Given the description of an element on the screen output the (x, y) to click on. 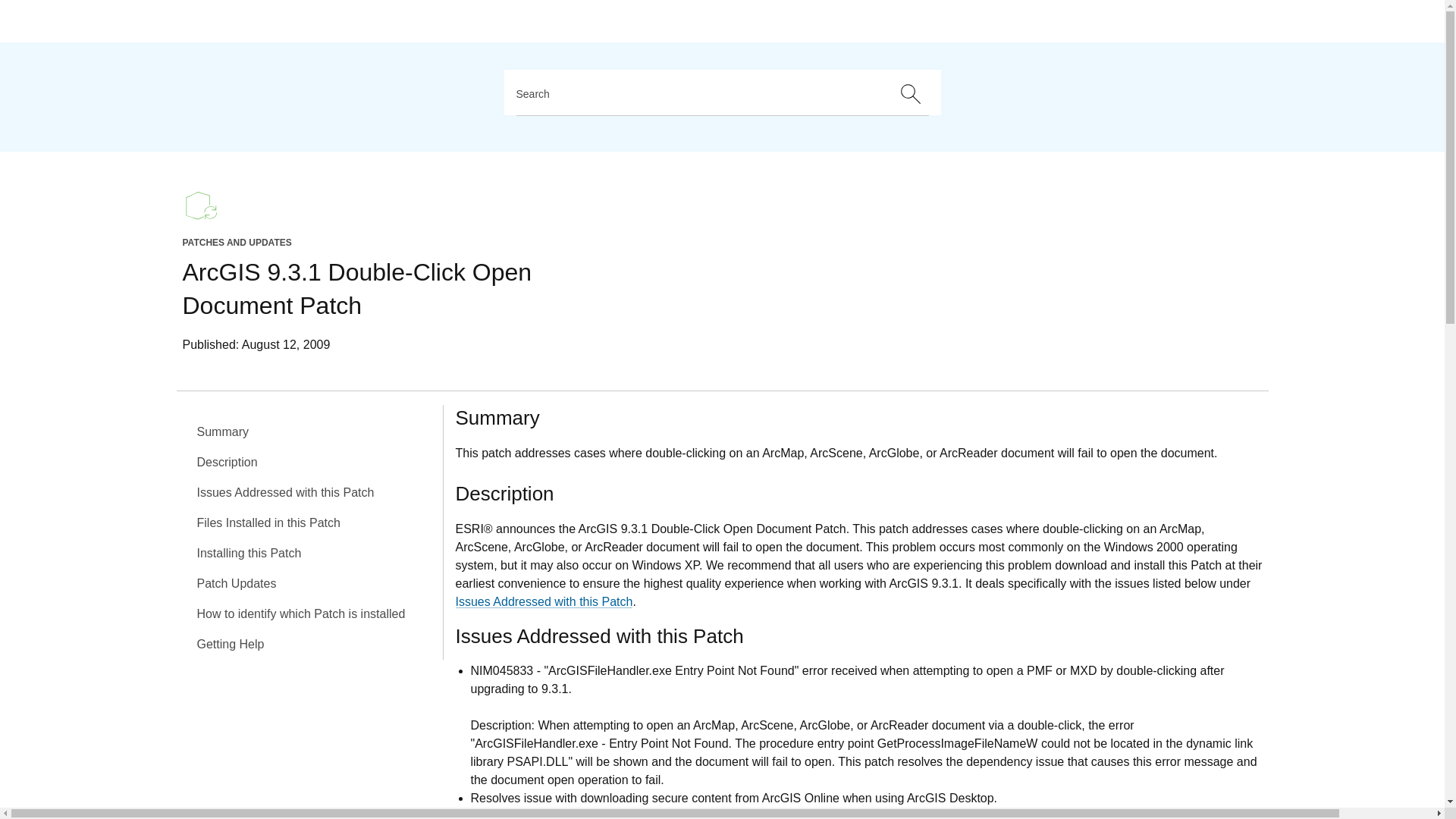
Getting Help (314, 644)
Summary (314, 431)
Files Installed in this Patch (314, 522)
Issues Addressed with this Patch (542, 600)
Patch Updates (314, 583)
Installing this Patch (314, 553)
Issues Addressed with this Patch (314, 492)
How to identify which Patch is installed (314, 613)
Description (314, 462)
